Given the description of an element on the screen output the (x, y) to click on. 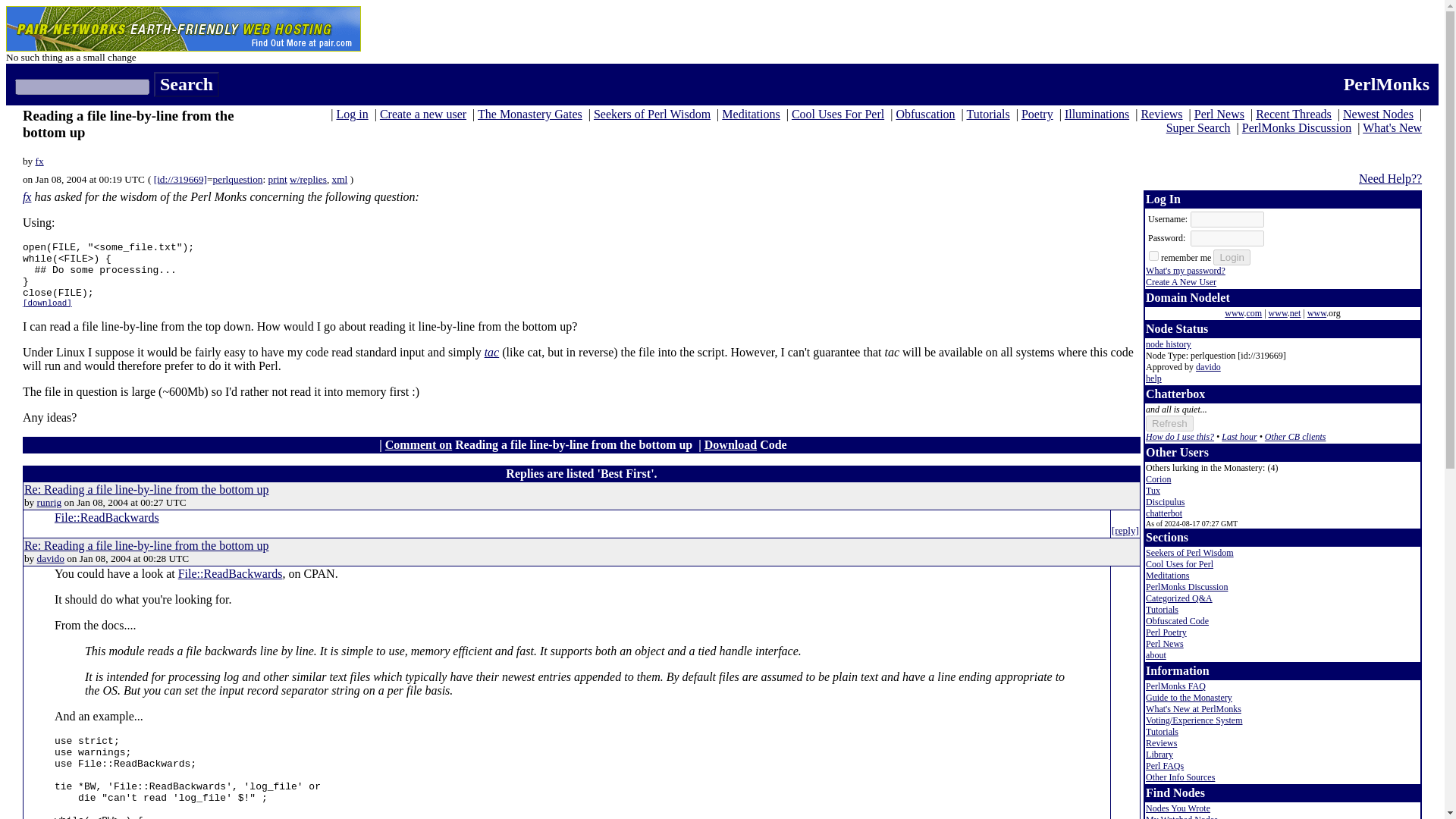
Illuminations (1096, 113)
Re: Reading a file line-by-line from the bottom up (146, 545)
Download (730, 444)
Seekers of Perl Wisdom (652, 113)
Cool Uses For Perl (837, 113)
Perl News (1218, 113)
Search (186, 84)
Obfuscation (925, 113)
xml (339, 179)
Poetry (1037, 113)
